Given the description of an element on the screen output the (x, y) to click on. 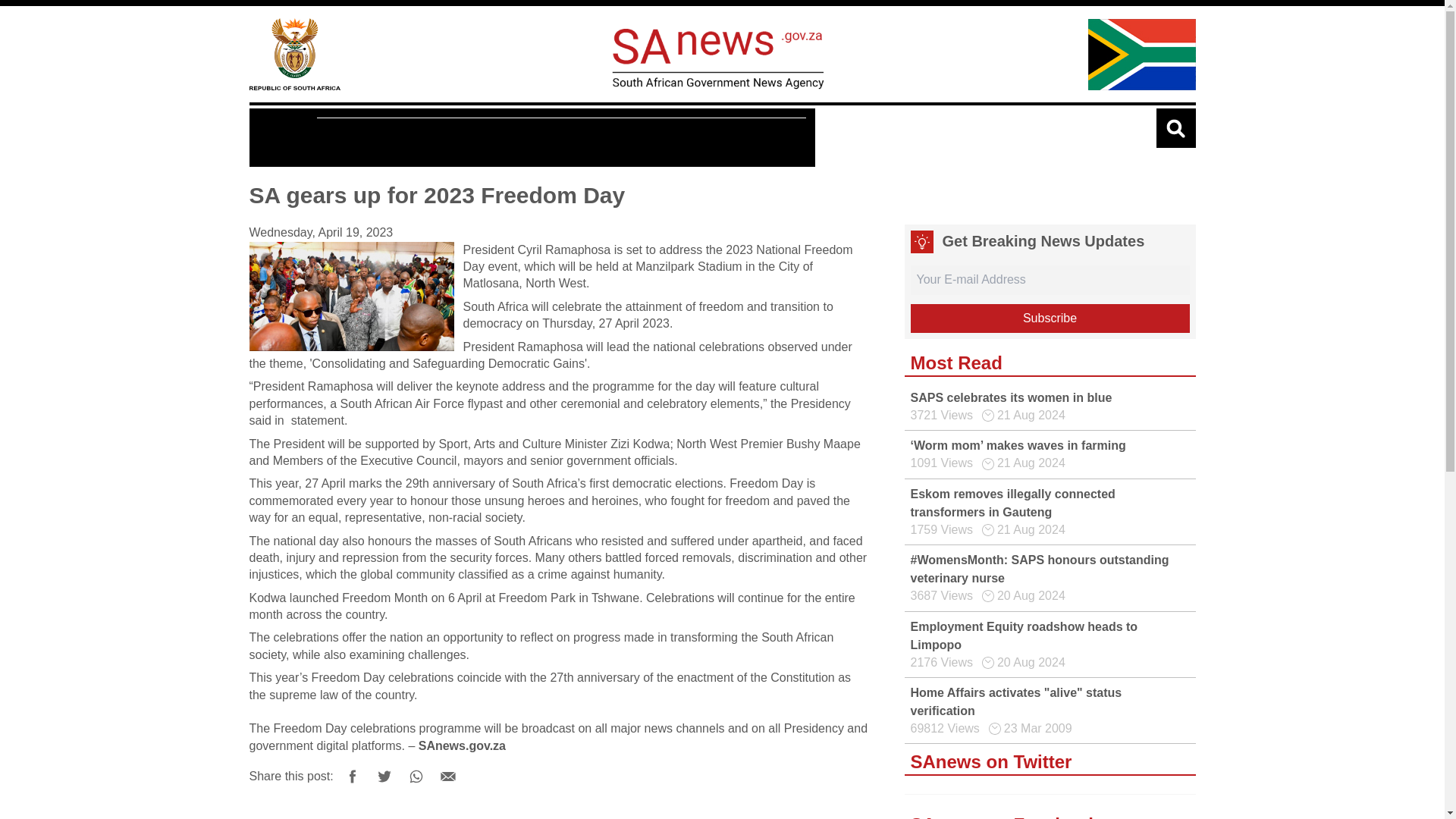
SAPS celebrates its women in blue (1011, 397)
Galleries (523, 137)
President Ramaphosa greets citizens. (350, 296)
Subscribe (1049, 317)
Multimedia (439, 137)
Home (293, 54)
Opinion Pieces (621, 137)
Share on Facebook (352, 776)
Share on Twitter (384, 776)
Share by Email (448, 776)
